Given the description of an element on the screen output the (x, y) to click on. 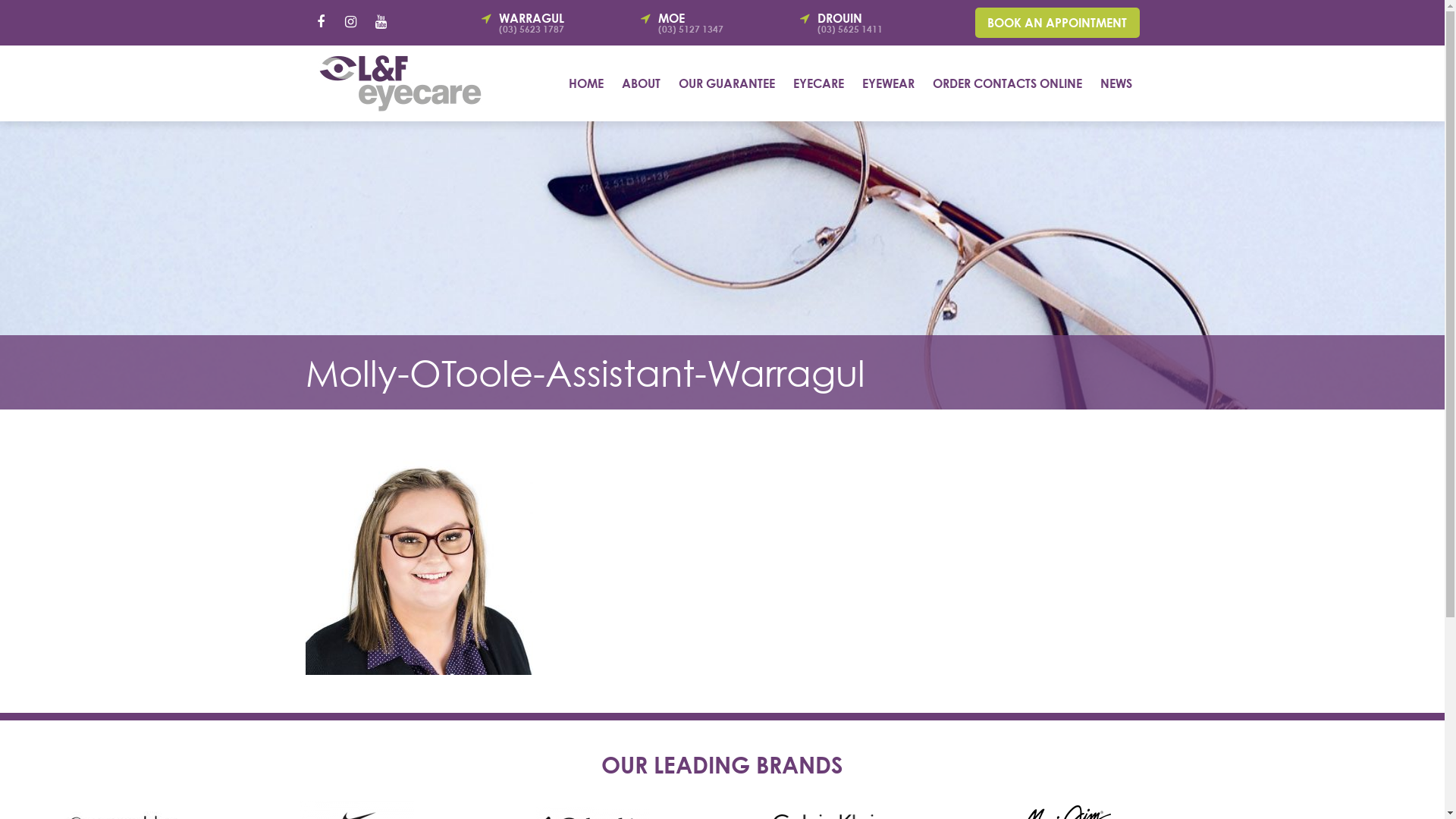
MOE
(03) 5127 1347 Element type: text (709, 22)
ABOUT Element type: text (641, 83)
WARRAGUL
(03) 5623 1787 Element type: text (550, 22)
HOME Element type: text (586, 83)
OUR GUARANTEE Element type: text (725, 83)
NEWS Element type: text (1115, 83)
EYECARE Element type: text (818, 83)
ORDER CONTACTS ONLINE Element type: text (1007, 83)
DROUIN
(03) 5625 1411 Element type: text (868, 22)
EYEWEAR Element type: text (887, 83)
